Given the description of an element on the screen output the (x, y) to click on. 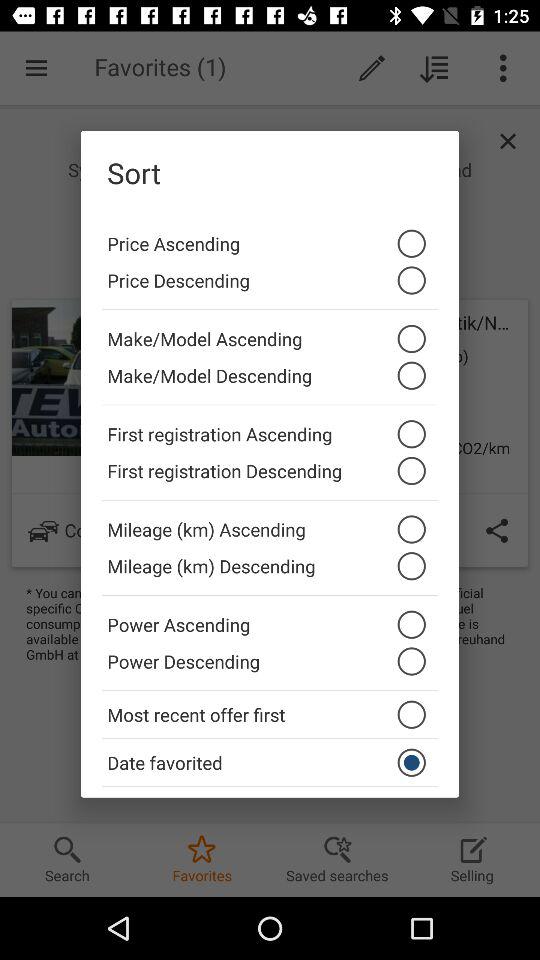
swipe to price ascending icon (269, 238)
